Given the description of an element on the screen output the (x, y) to click on. 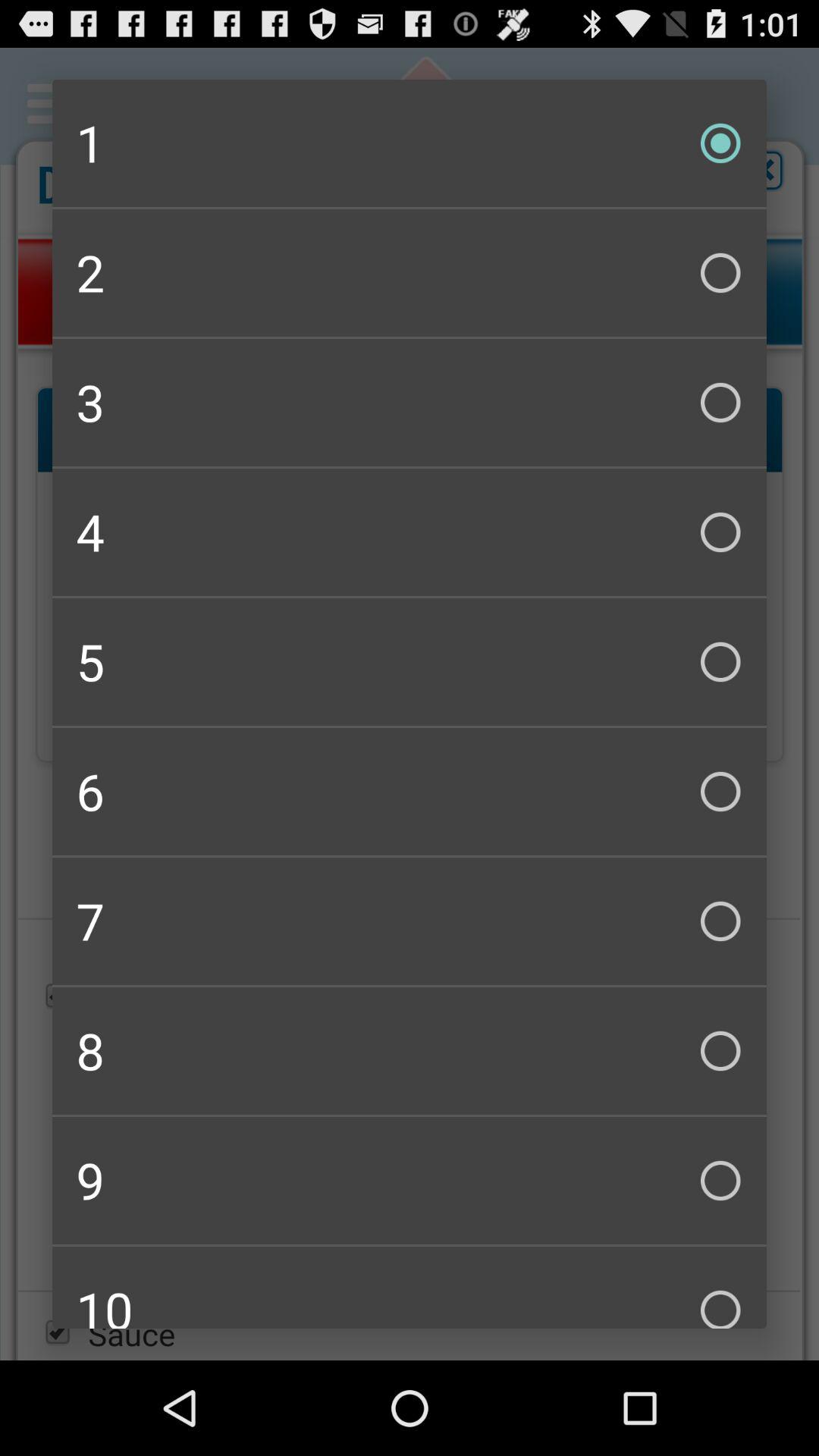
turn off item above the 4 checkbox (409, 402)
